Given the description of an element on the screen output the (x, y) to click on. 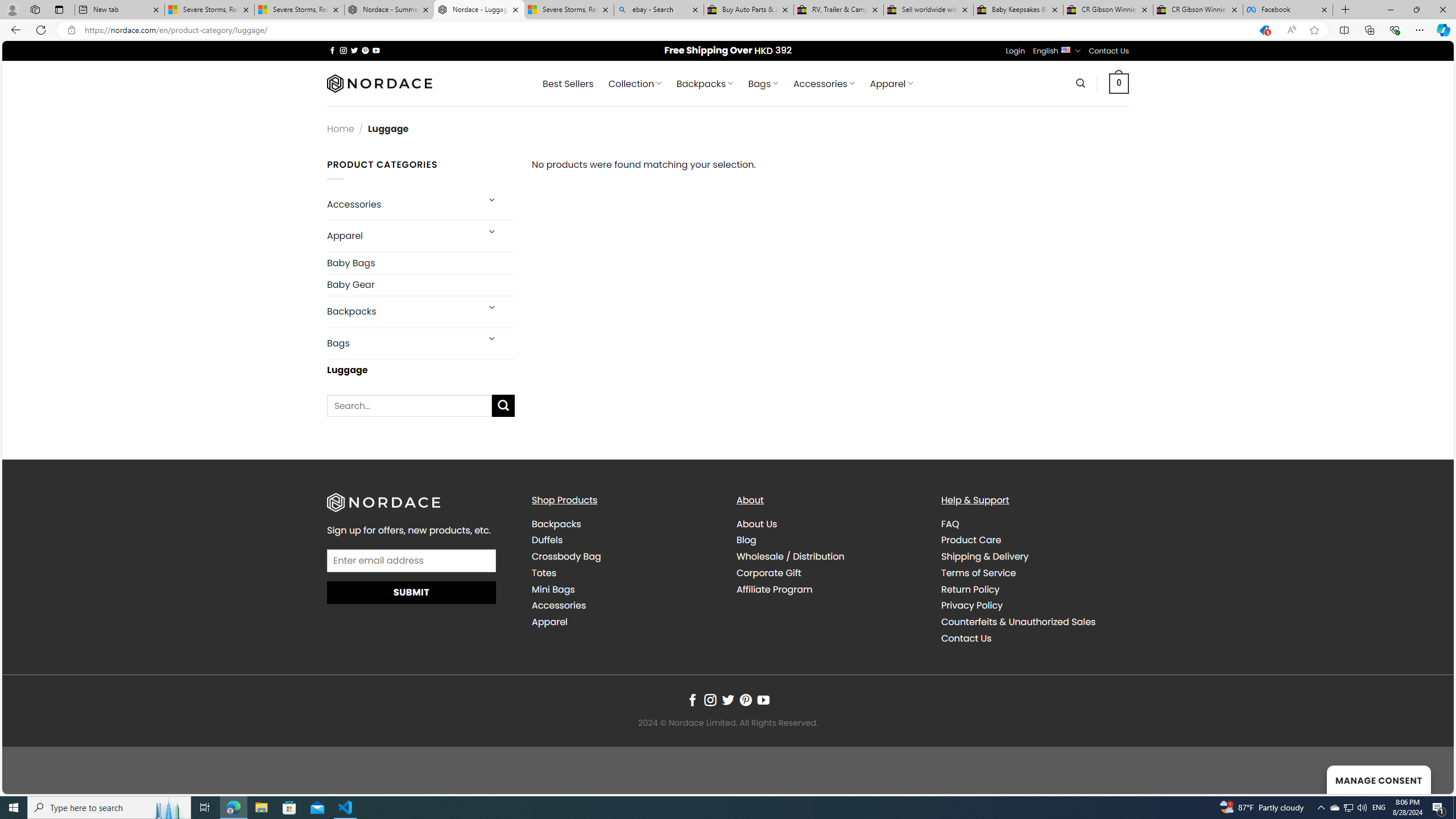
Shipping & Delivery (1034, 556)
Mini Bags (553, 589)
Baby Keepsakes & Announcements for sale | eBay (1018, 9)
This site has coupons! Shopping in Microsoft Edge, 5 (1263, 29)
About Us (830, 523)
Baby Bags (421, 263)
Facebook (1287, 9)
Personal Profile (12, 9)
View site information (70, 29)
Nordace - Summer Adventures 2024 (389, 9)
Terms of Service (1034, 572)
 Best Sellers (568, 83)
Sell worldwide with eBay (928, 9)
Search for: (409, 405)
Affiliate Program (830, 589)
